Given the description of an element on the screen output the (x, y) to click on. 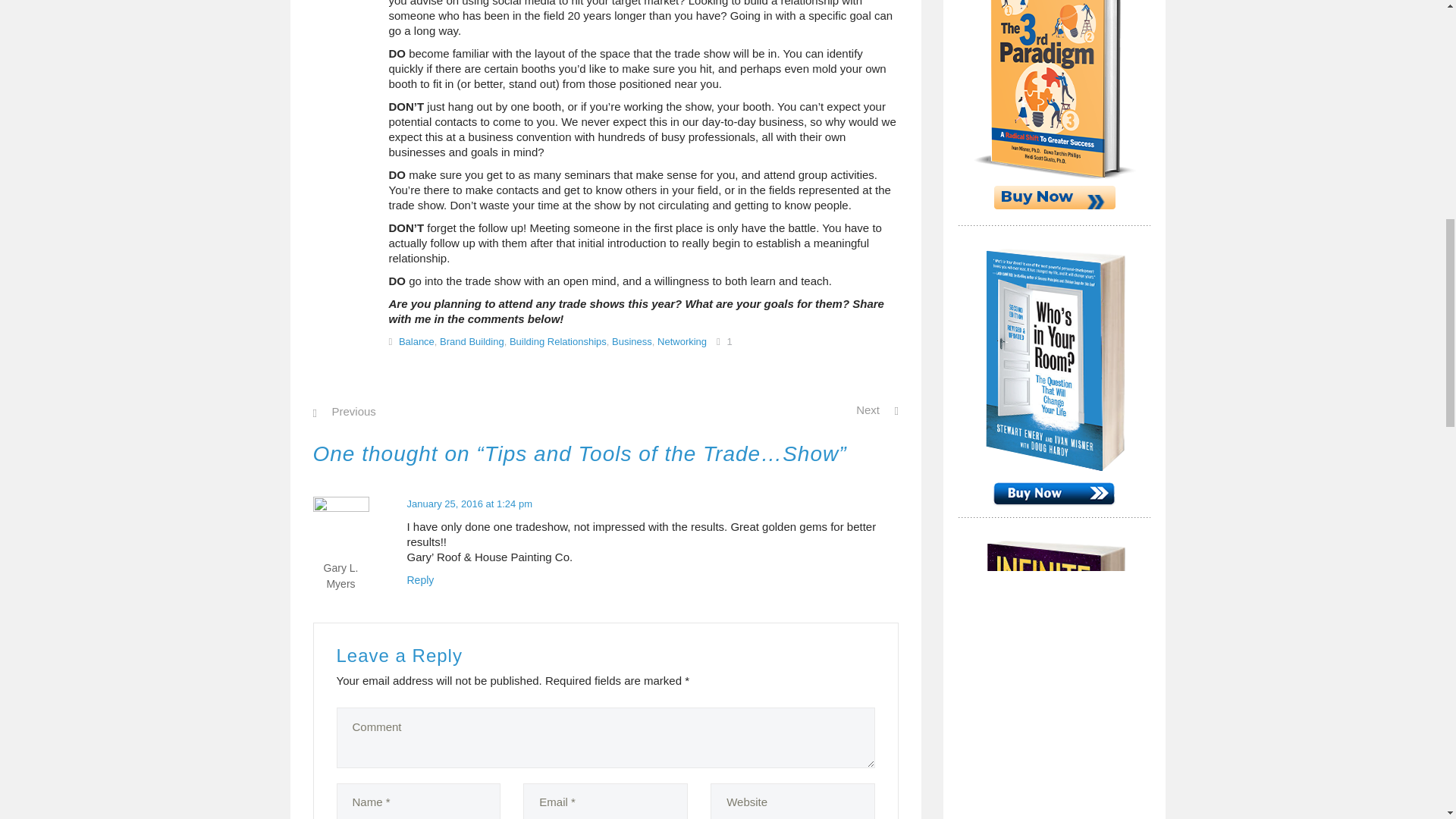
Previous (344, 410)
Networking (682, 341)
Brand Building (471, 341)
Next (877, 409)
Business (631, 341)
Reply (419, 580)
January 25, 2016 at 1:24 pm (469, 503)
Building Relationships (558, 341)
Balance (415, 341)
